Given the description of an element on the screen output the (x, y) to click on. 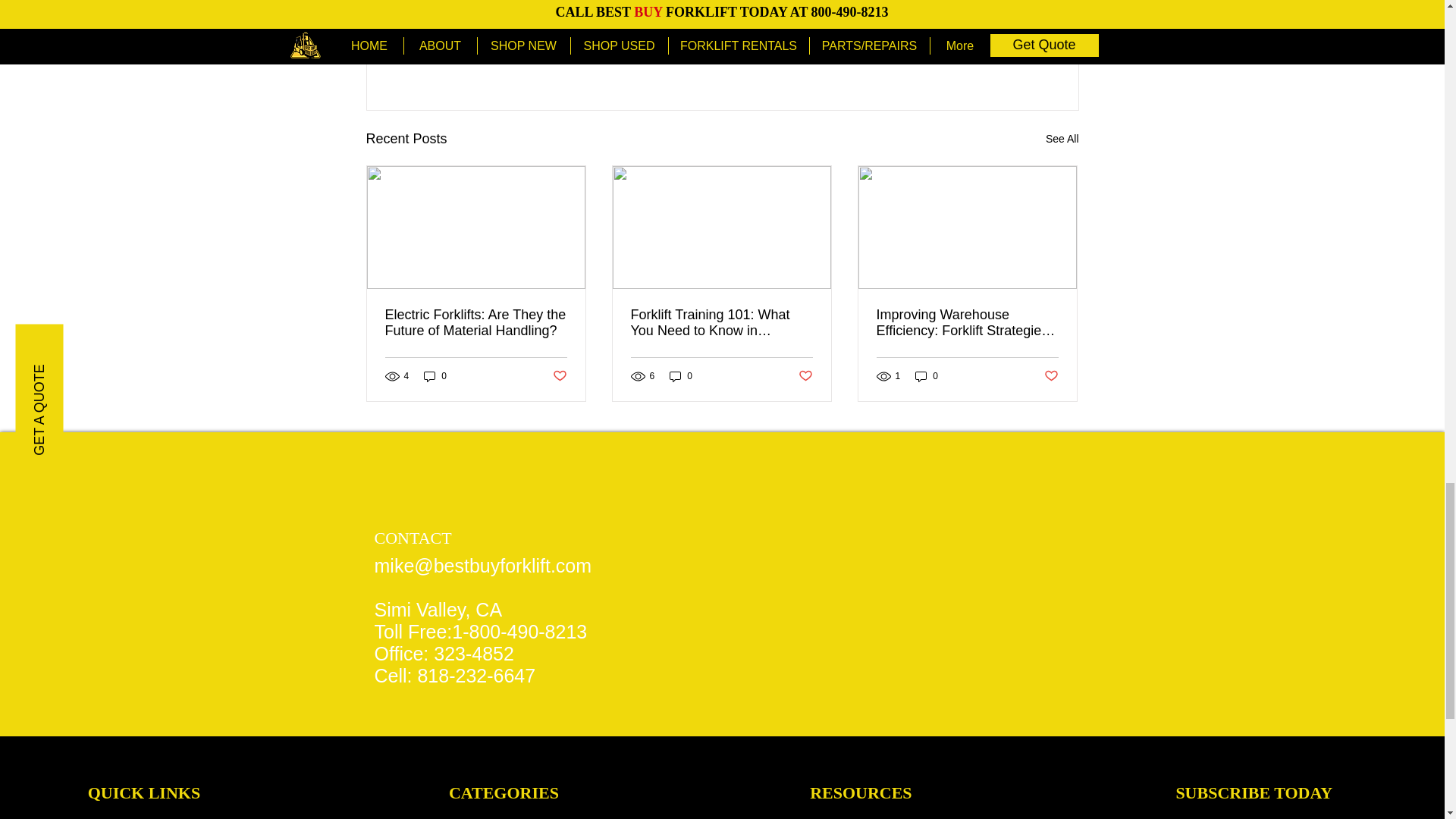
Post not marked as liked (558, 376)
0 (435, 375)
Forklift Training 101: What You Need to Know in California (721, 323)
See All (1061, 138)
Post not marked as liked (995, 56)
